Given the description of an element on the screen output the (x, y) to click on. 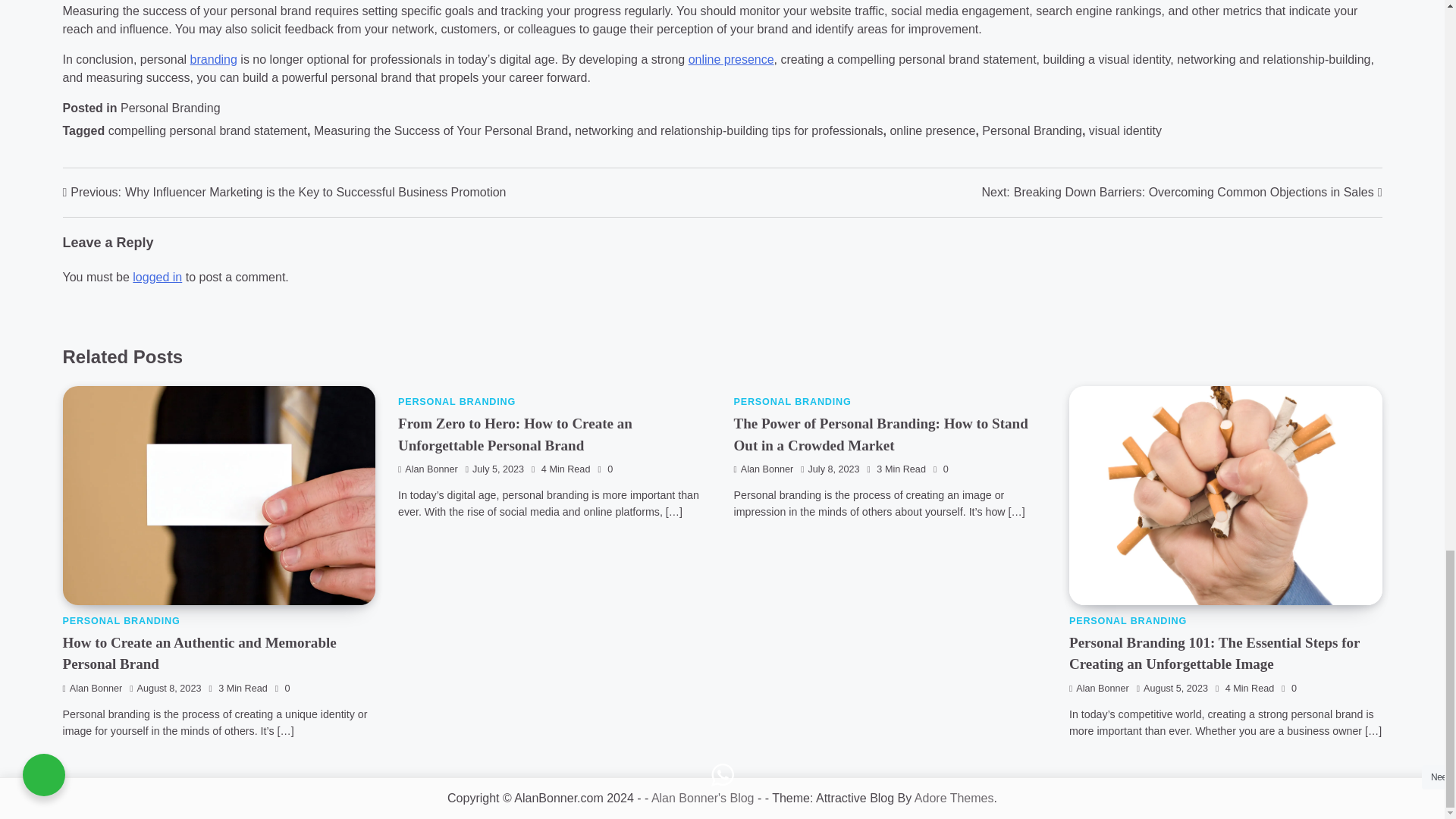
Personal Branding (170, 107)
Alan Bonner (92, 688)
Alan Bonner (1098, 688)
How to Create an Authentic and Memorable Personal Brand (199, 653)
networking and relationship-building tips for professionals (728, 130)
Alan Bonner's Blog (702, 797)
PERSONAL BRANDING (1127, 620)
Personal Branding (1031, 130)
online presence (932, 130)
Measuring the Success of Your Personal Brand (440, 130)
logged in (157, 277)
Alan Bonner (427, 469)
